Given the description of an element on the screen output the (x, y) to click on. 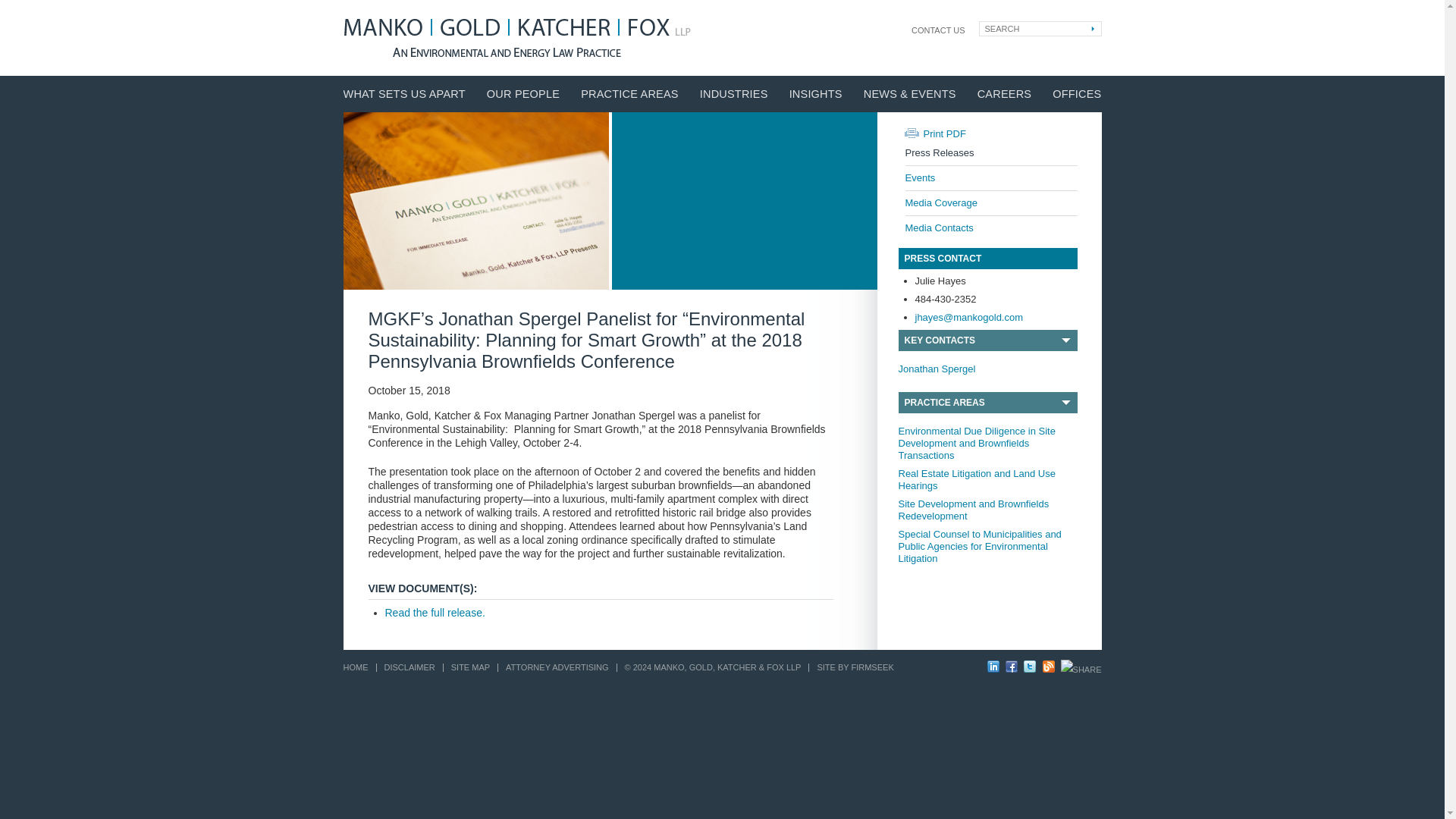
Share (1081, 669)
CONTACT US (938, 30)
WHAT SETS US APART (403, 94)
CAREERS (1004, 94)
OUR PEOPLE (522, 94)
INSIGHTS (816, 94)
INDUSTRIES (734, 94)
PRACTICE AREAS (629, 94)
